Given the description of an element on the screen output the (x, y) to click on. 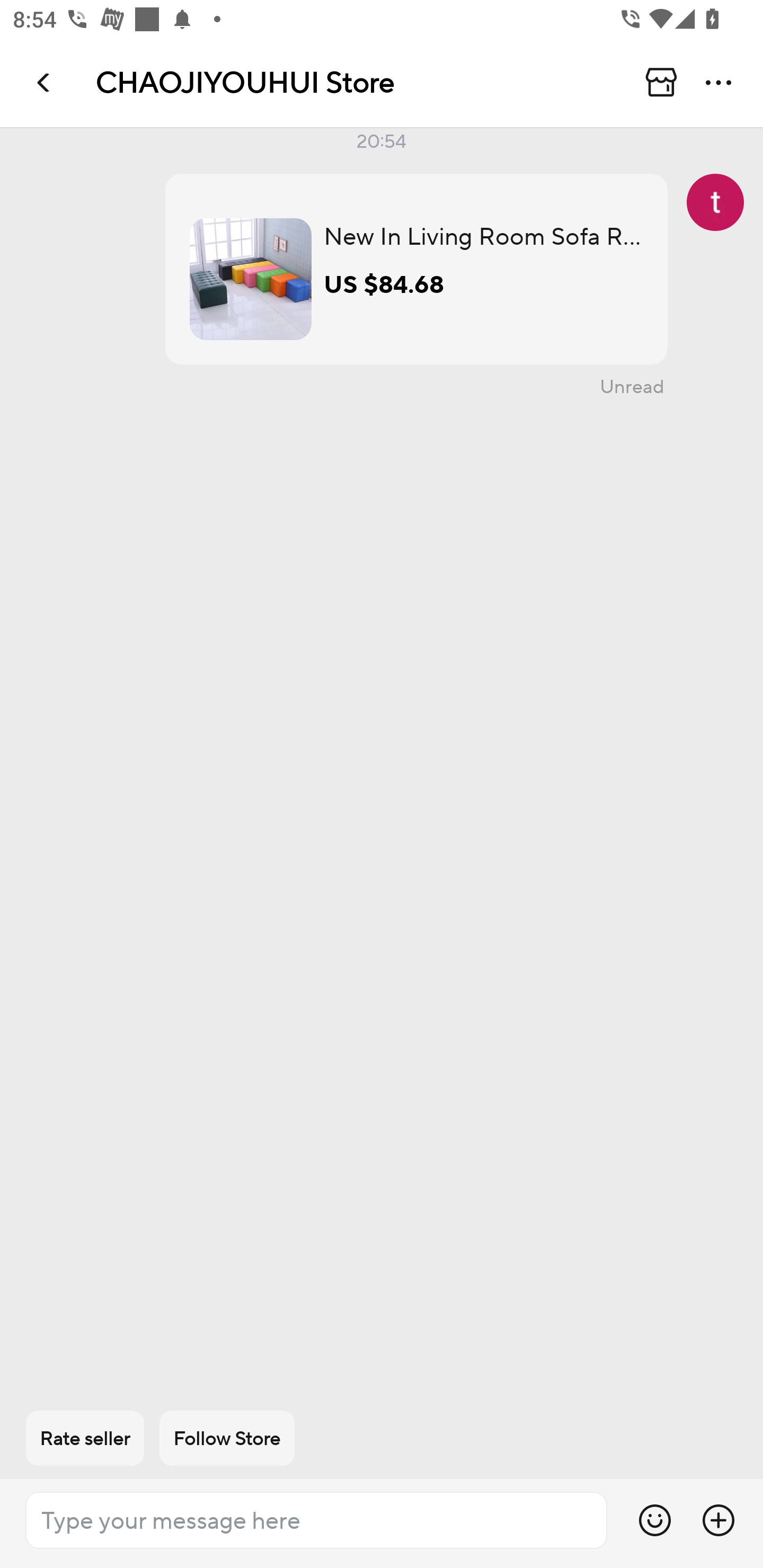
Navigate up (44, 82)
头像 (714, 202)
Rate seller (84, 1437)
Follow Store (226, 1437)
Type your message here (316, 1520)
